Given the description of an element on the screen output the (x, y) to click on. 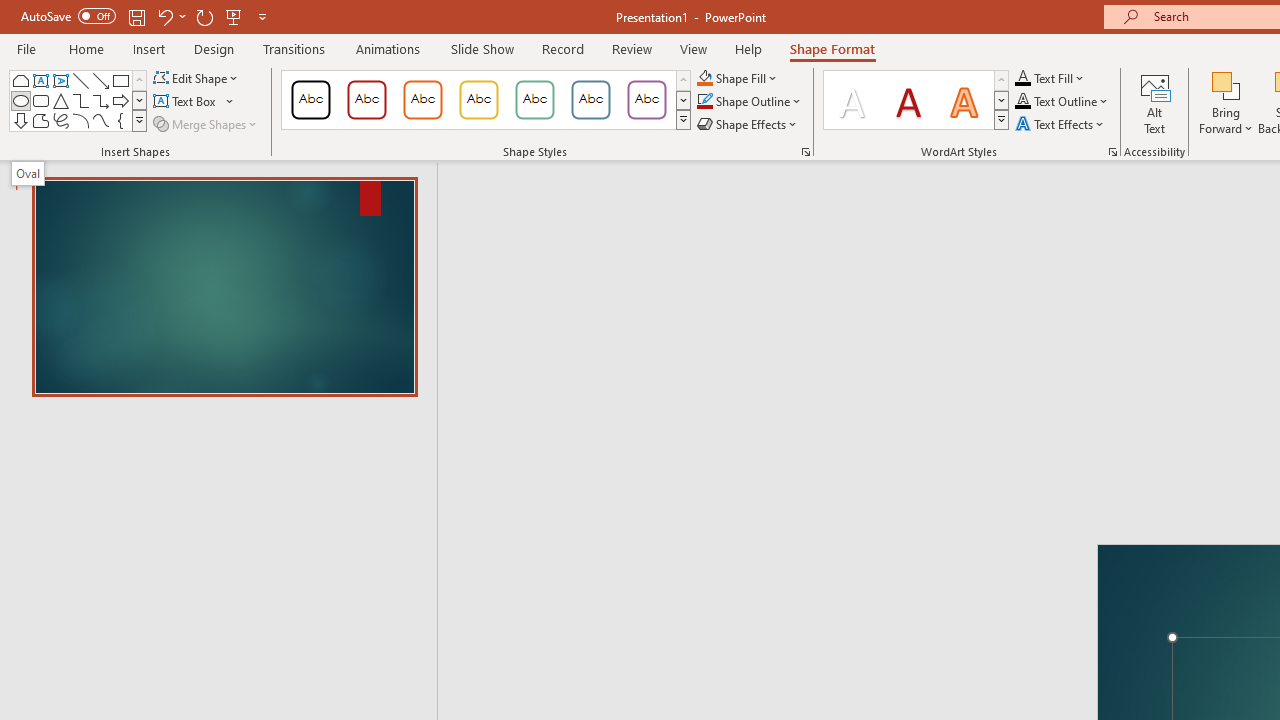
AutomationID: ShapeStylesGallery (486, 99)
Text Box (40, 80)
Colored Outline - Black, Dark 1 (310, 100)
Rectangle: Rounded Corners (40, 100)
Connector: Elbow Arrow (100, 100)
Oval (27, 173)
Line (80, 80)
Colored Outline - Orange, Accent 2 (422, 100)
AutomationID: TextStylesGallery (916, 99)
Connector: Elbow (80, 100)
